Given the description of an element on the screen output the (x, y) to click on. 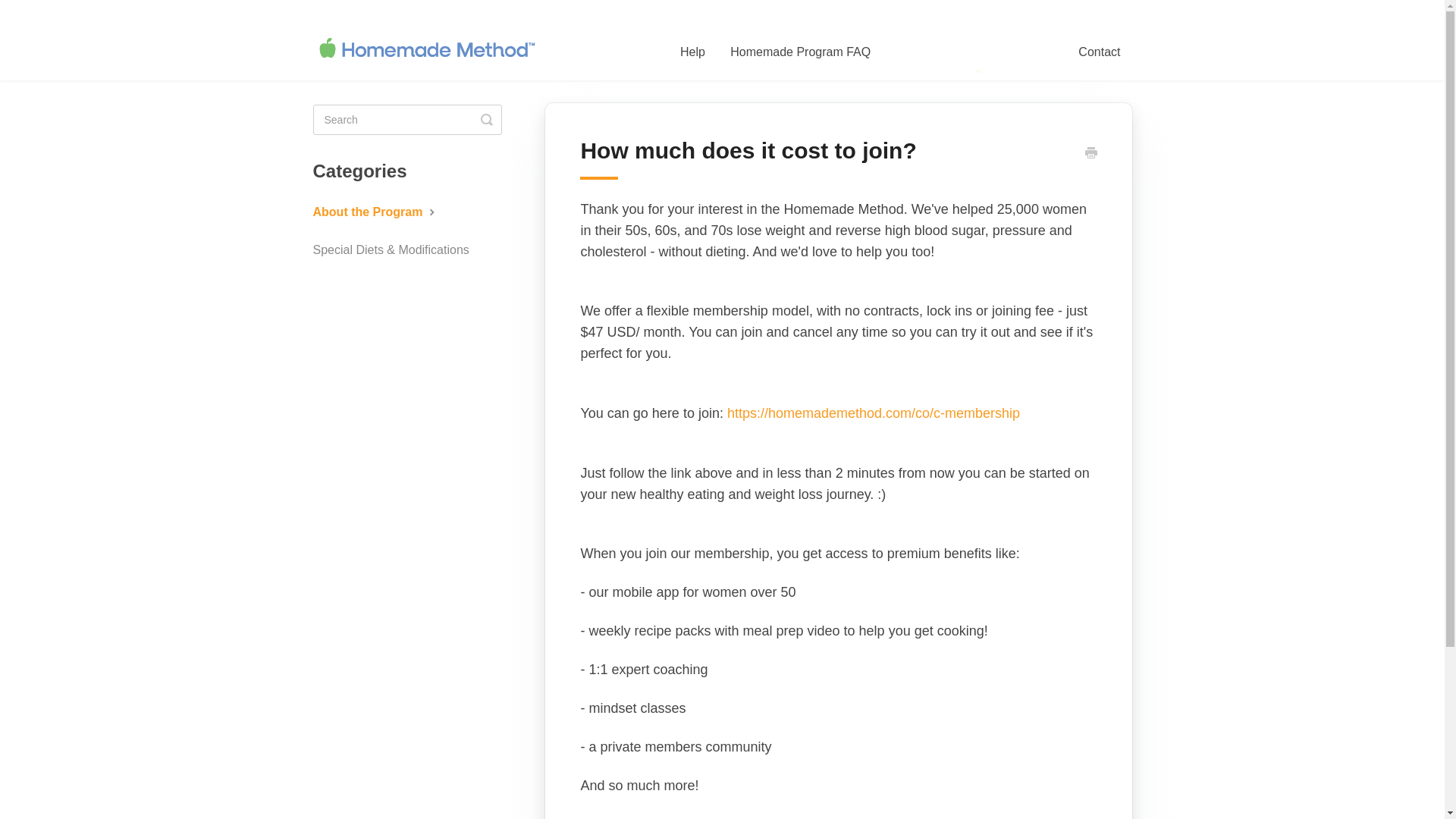
Homemade Program FAQ (800, 51)
Contact (1099, 51)
Questions Before You Start (974, 51)
search-query (406, 119)
About the Program (381, 211)
Help (692, 51)
